Given the description of an element on the screen output the (x, y) to click on. 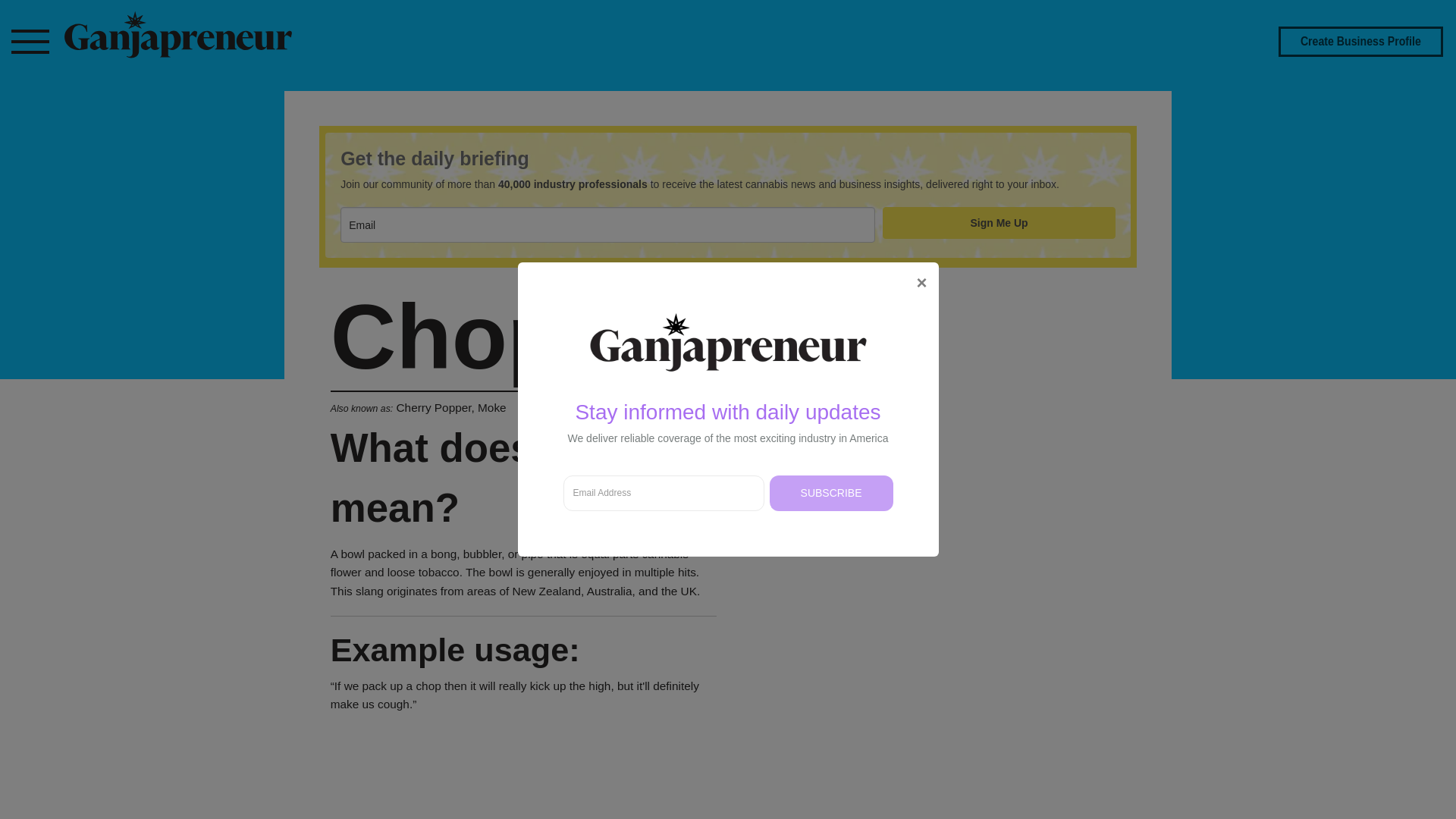
Create Business Profile (1360, 41)
Advertisement (727, 785)
Sign Me Up (998, 223)
